Given the description of an element on the screen output the (x, y) to click on. 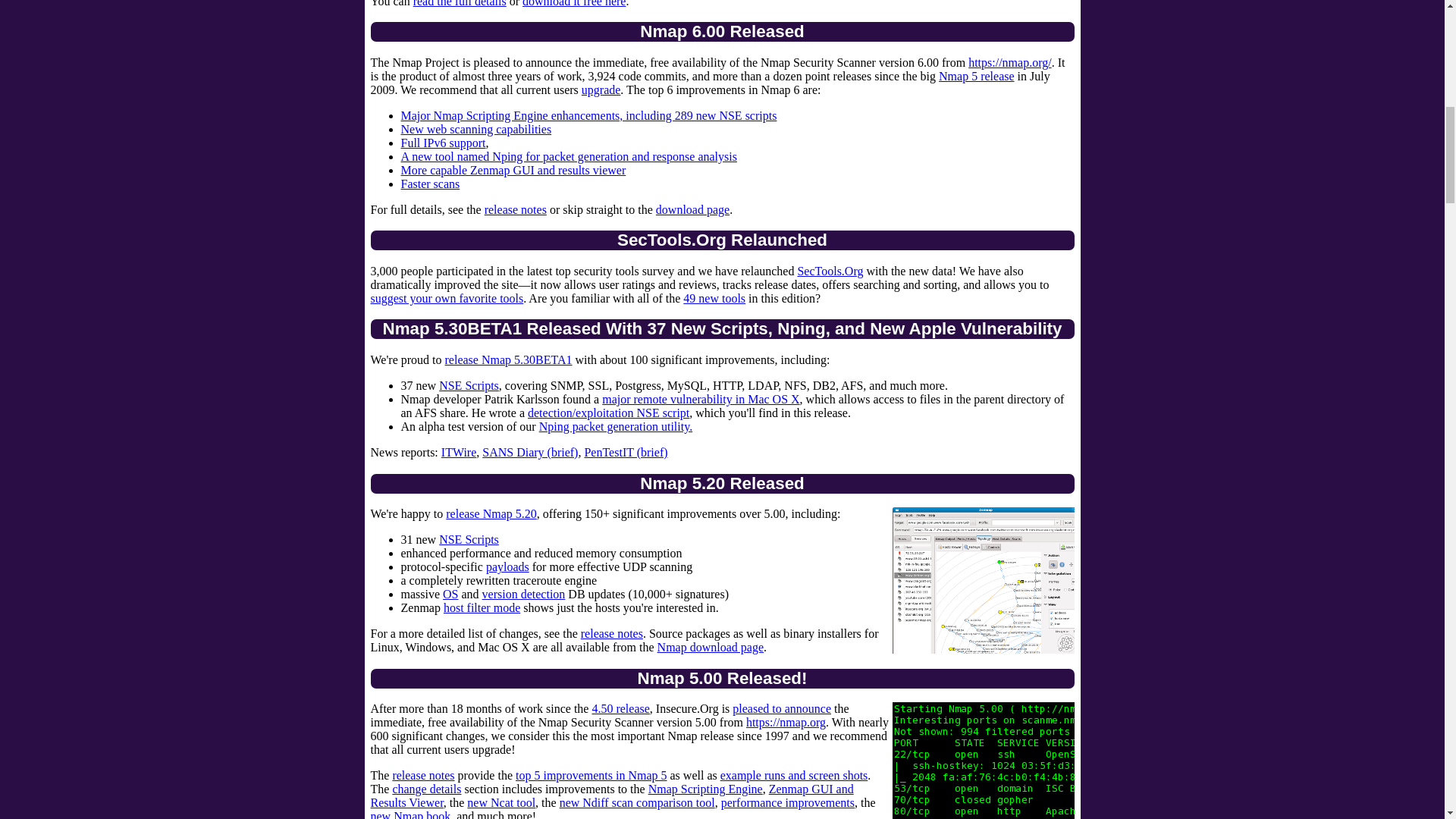
read the full details (459, 3)
download it free here (574, 3)
